Given the description of an element on the screen output the (x, y) to click on. 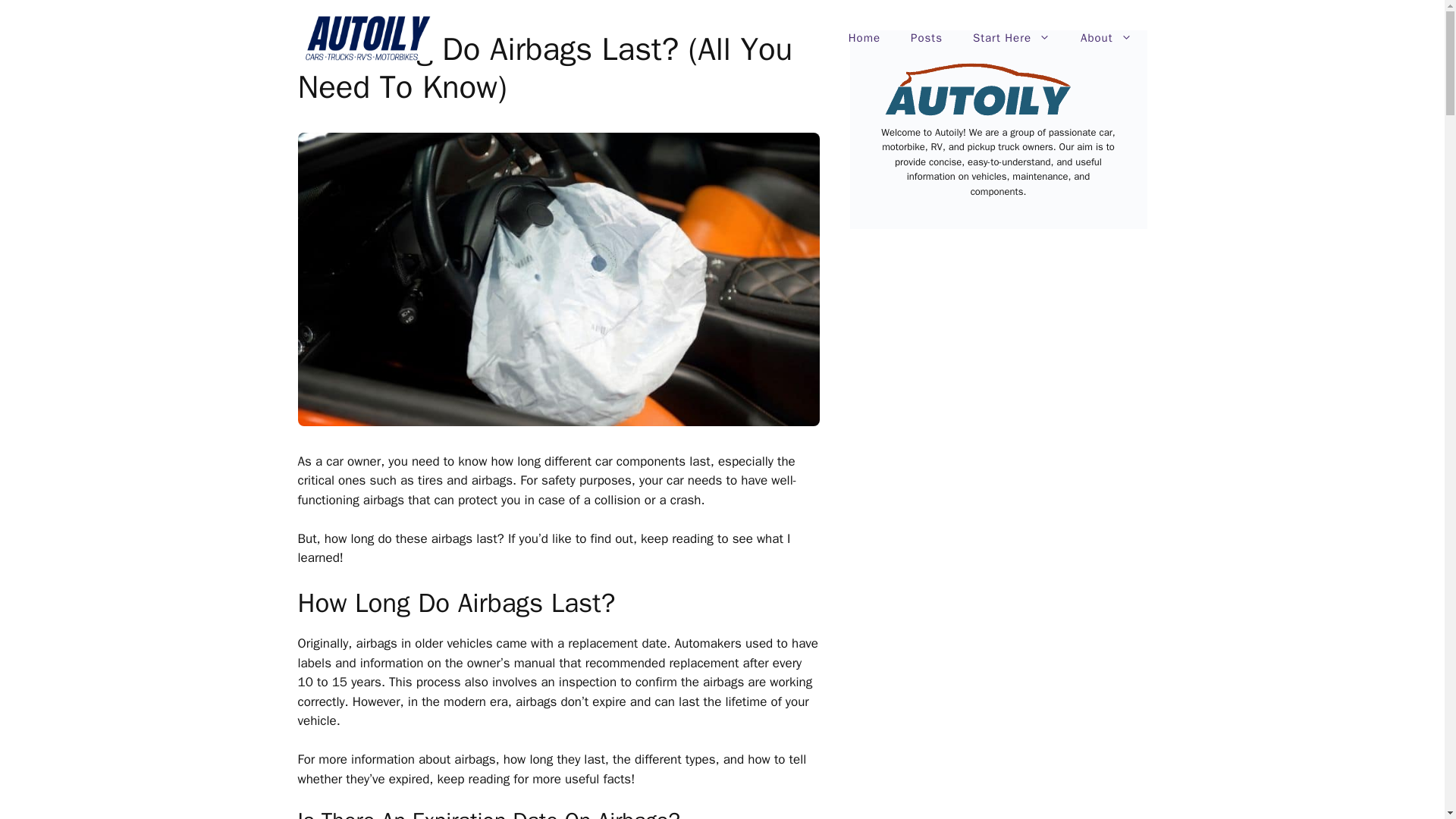
About (1106, 37)
Start Here (1011, 37)
Posts (926, 37)
Home (863, 37)
